Given the description of an element on the screen output the (x, y) to click on. 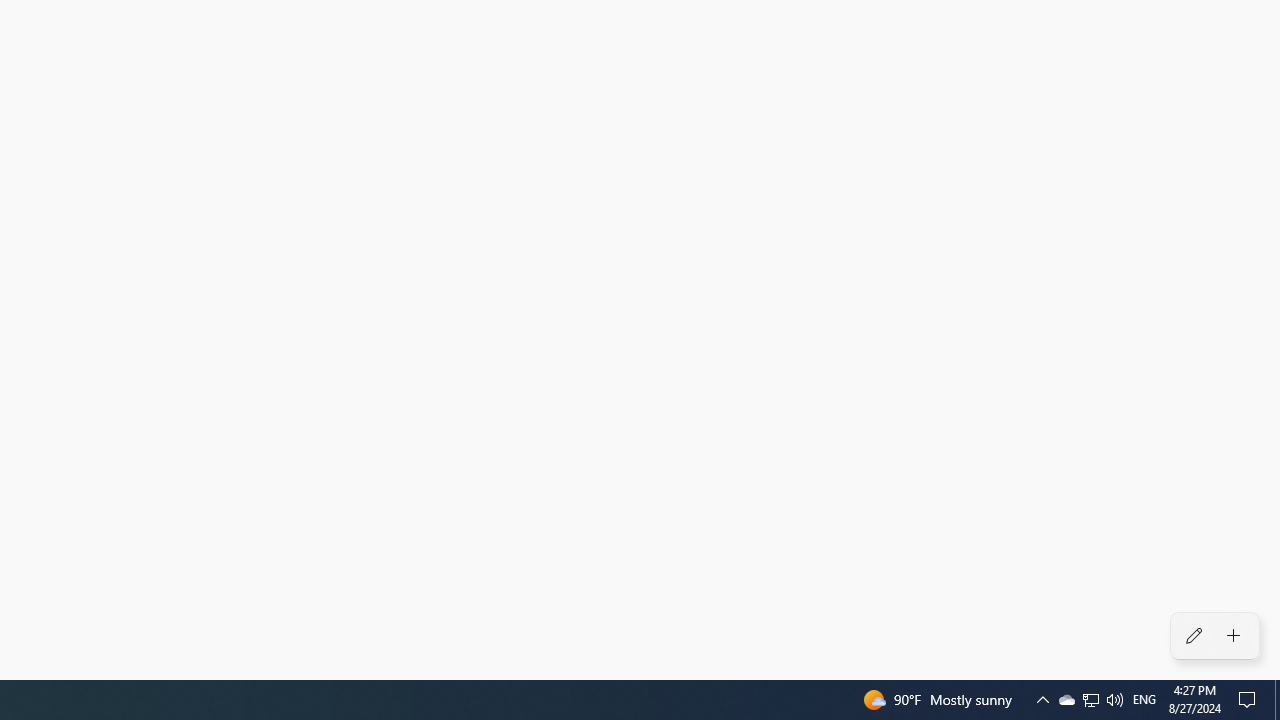
Edit timer (1193, 636)
Add new timer (1233, 636)
